Given the description of an element on the screen output the (x, y) to click on. 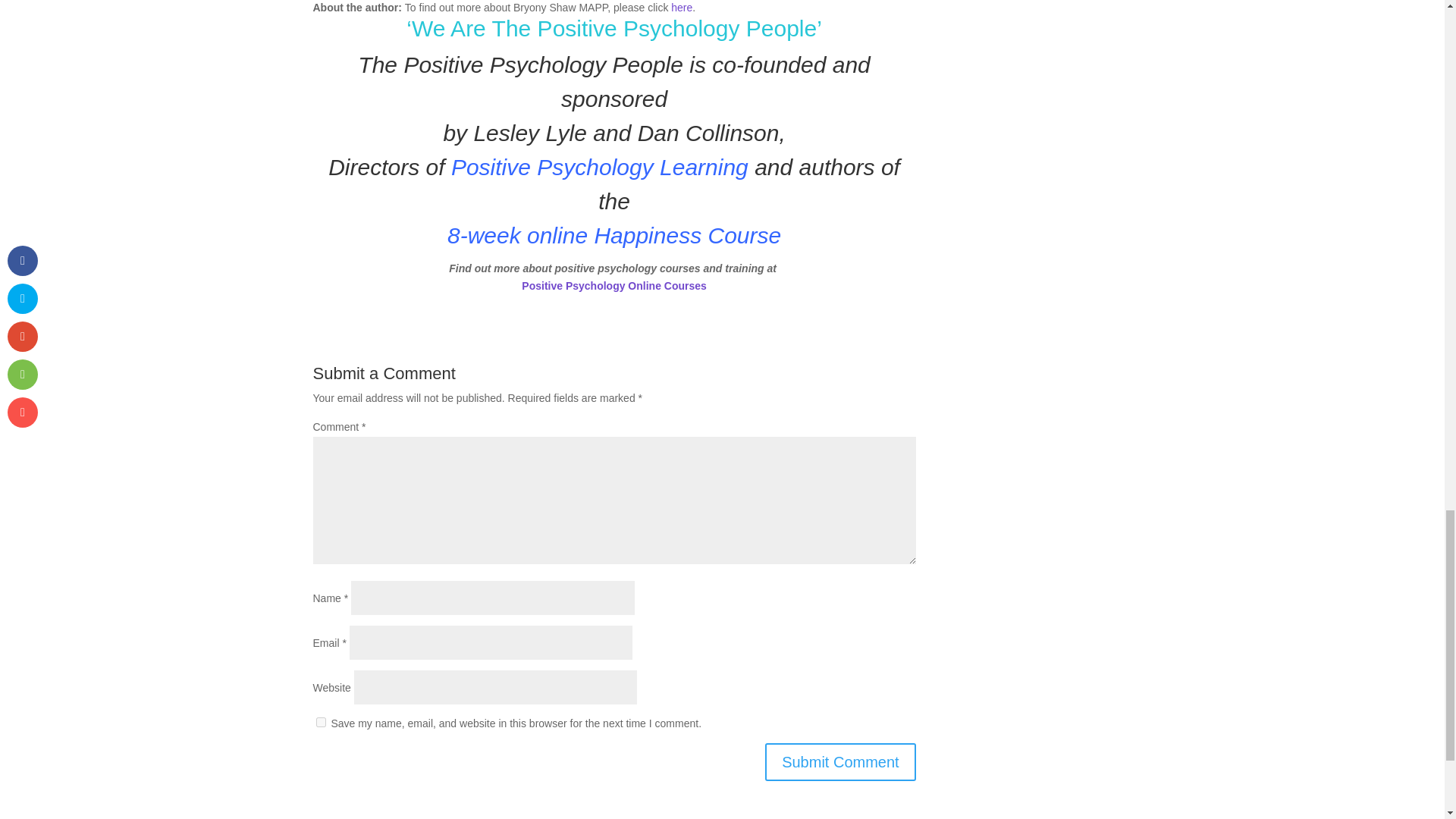
yes (319, 722)
Submit Comment (840, 761)
